Given the description of an element on the screen output the (x, y) to click on. 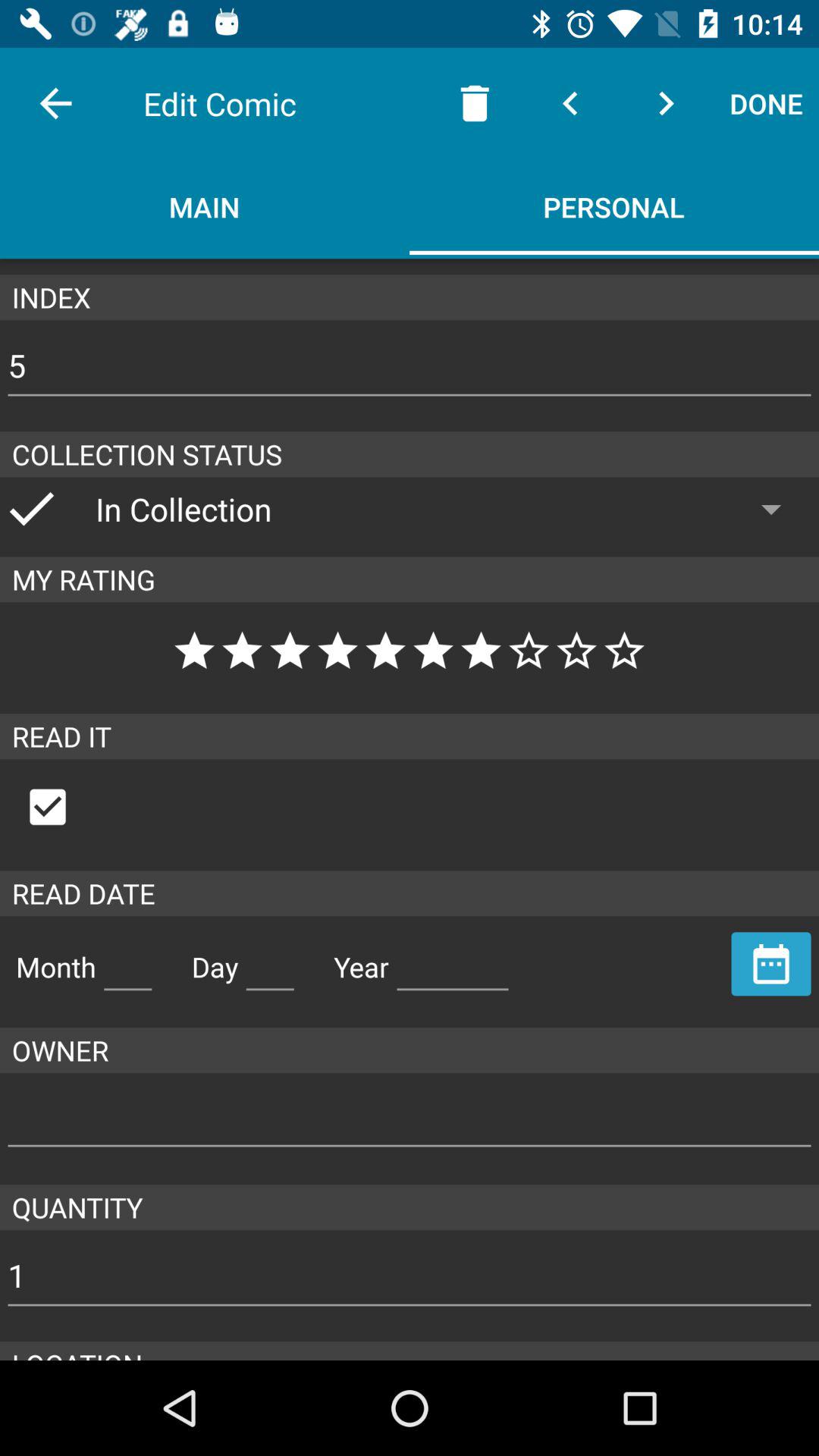
enter date of birth (270, 961)
